Given the description of an element on the screen output the (x, y) to click on. 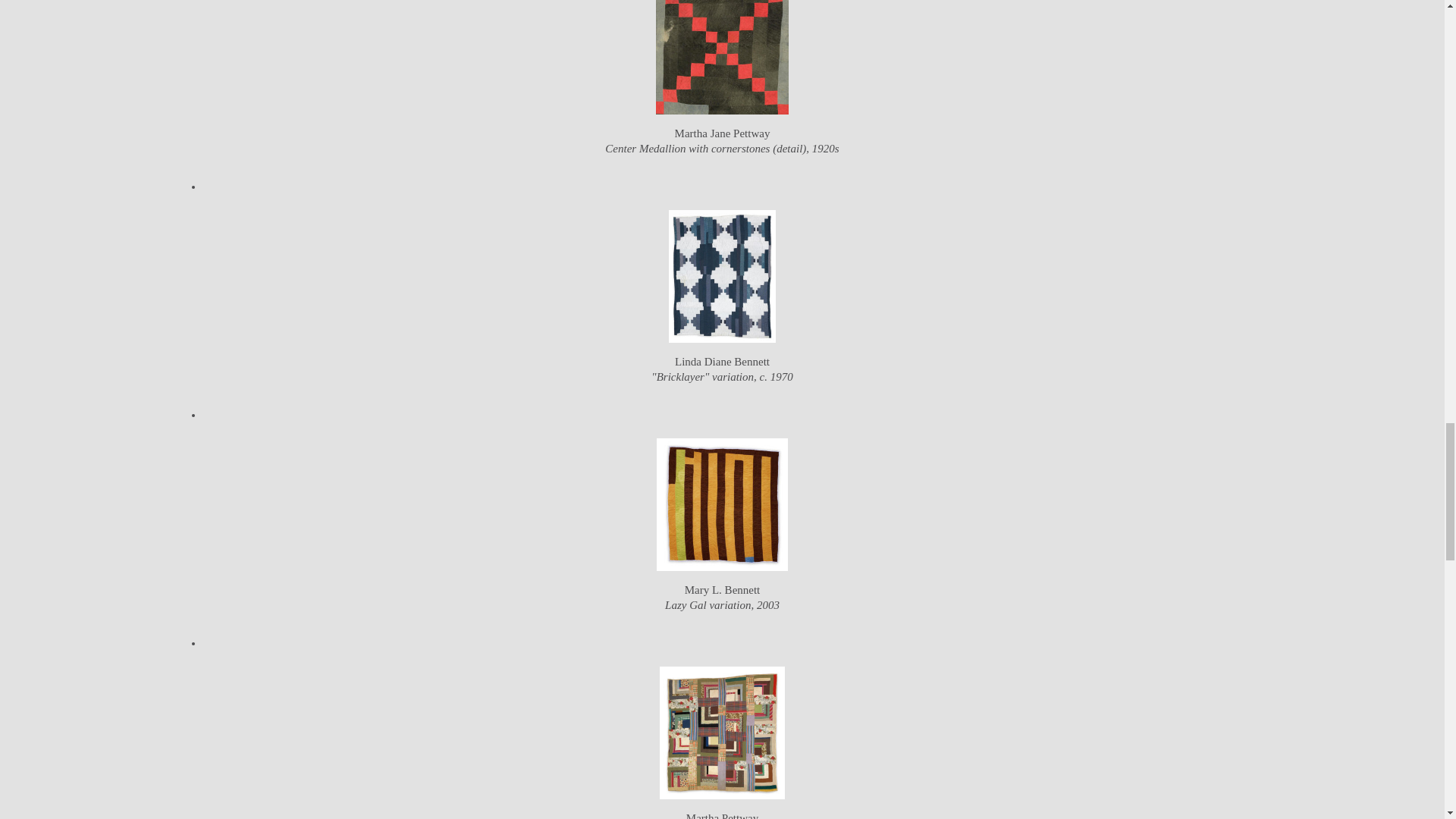
Linda Diane Bennett - "Bricklayer" variation, c. 1970 (722, 275)
Mary L. Bennett - Lazy Gal variation, 2003 (722, 503)
